Given the description of an element on the screen output the (x, y) to click on. 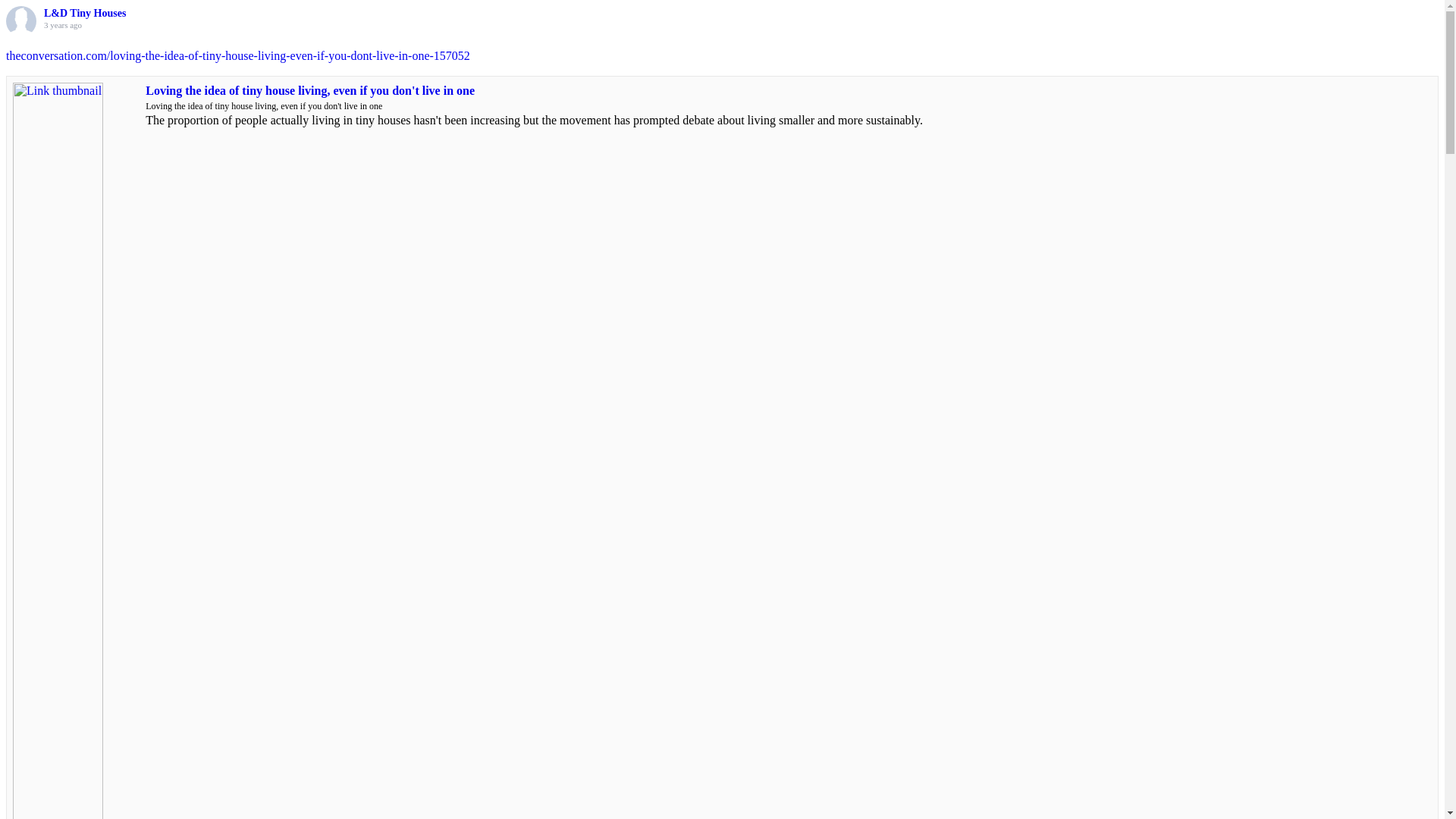
L&D Tiny Houses Element type: text (84, 12)
